Given the description of an element on the screen output the (x, y) to click on. 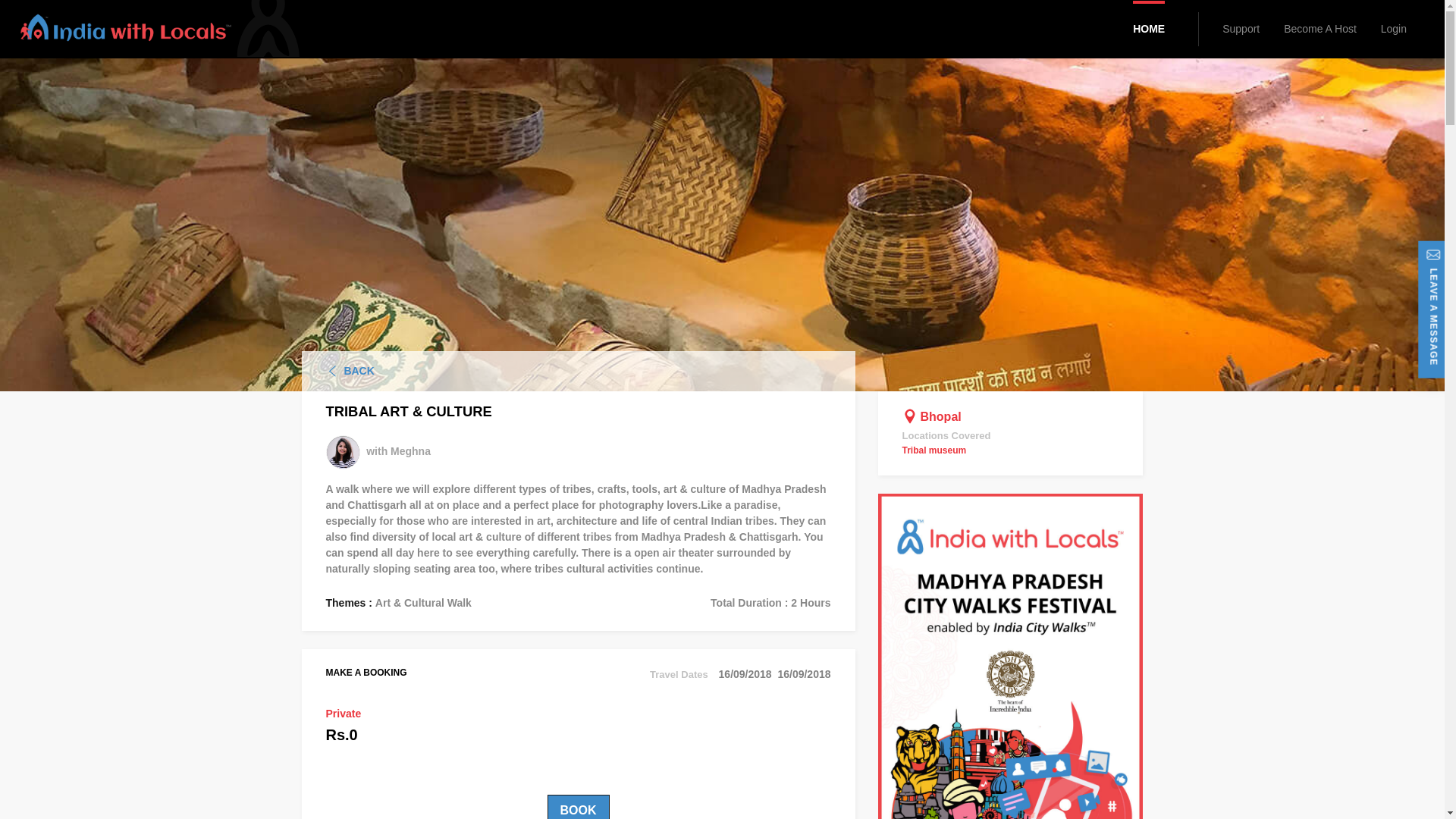
Login (1393, 28)
Support (1241, 28)
Become A Host (1320, 28)
BOOK (578, 806)
BACK (358, 370)
